Given the description of an element on the screen output the (x, y) to click on. 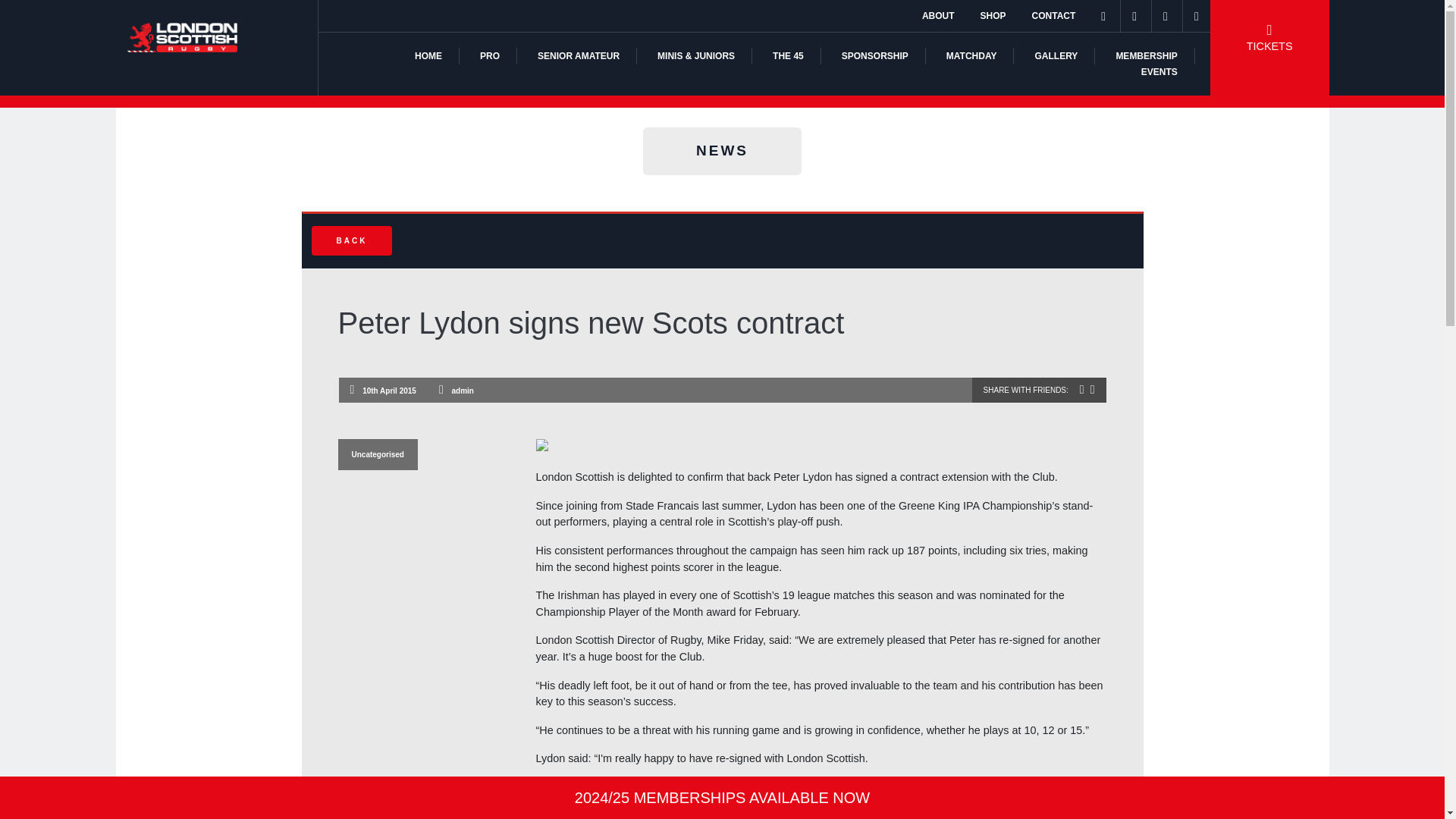
THE 45 (788, 55)
CONTACT (1053, 15)
GALLERY (1055, 55)
MEMBERSHIP (1145, 55)
MATCHDAY (971, 55)
HOME (428, 55)
ABOUT (938, 15)
PRO (489, 55)
SENIOR AMATEUR (578, 55)
SPONSORSHIP (874, 55)
